Given the description of an element on the screen output the (x, y) to click on. 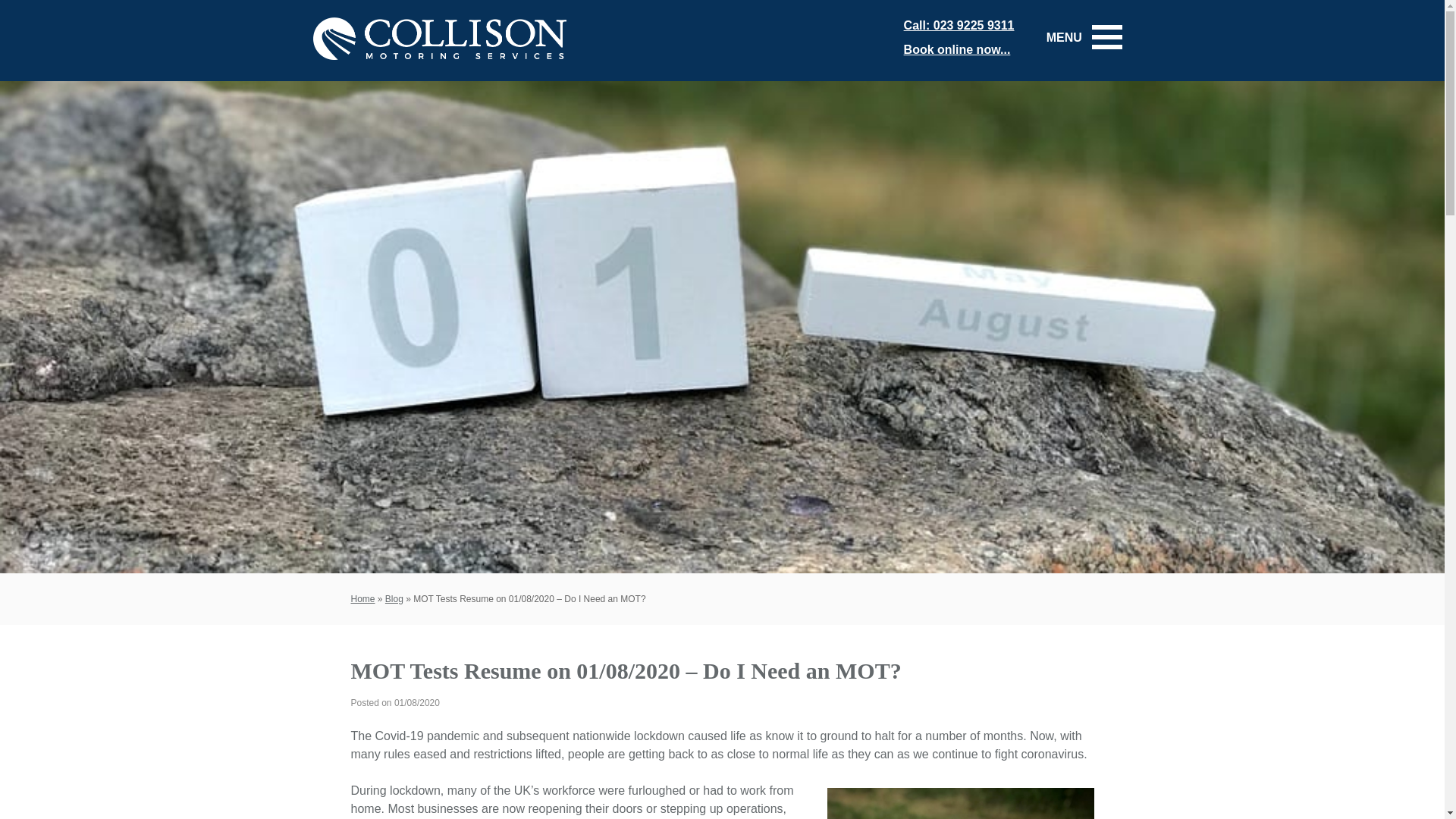
Home (362, 598)
Collison Motoring Services (438, 66)
Call: 023 9225 9311 (959, 24)
Blog (394, 598)
Book online now... (957, 49)
